Given the description of an element on the screen output the (x, y) to click on. 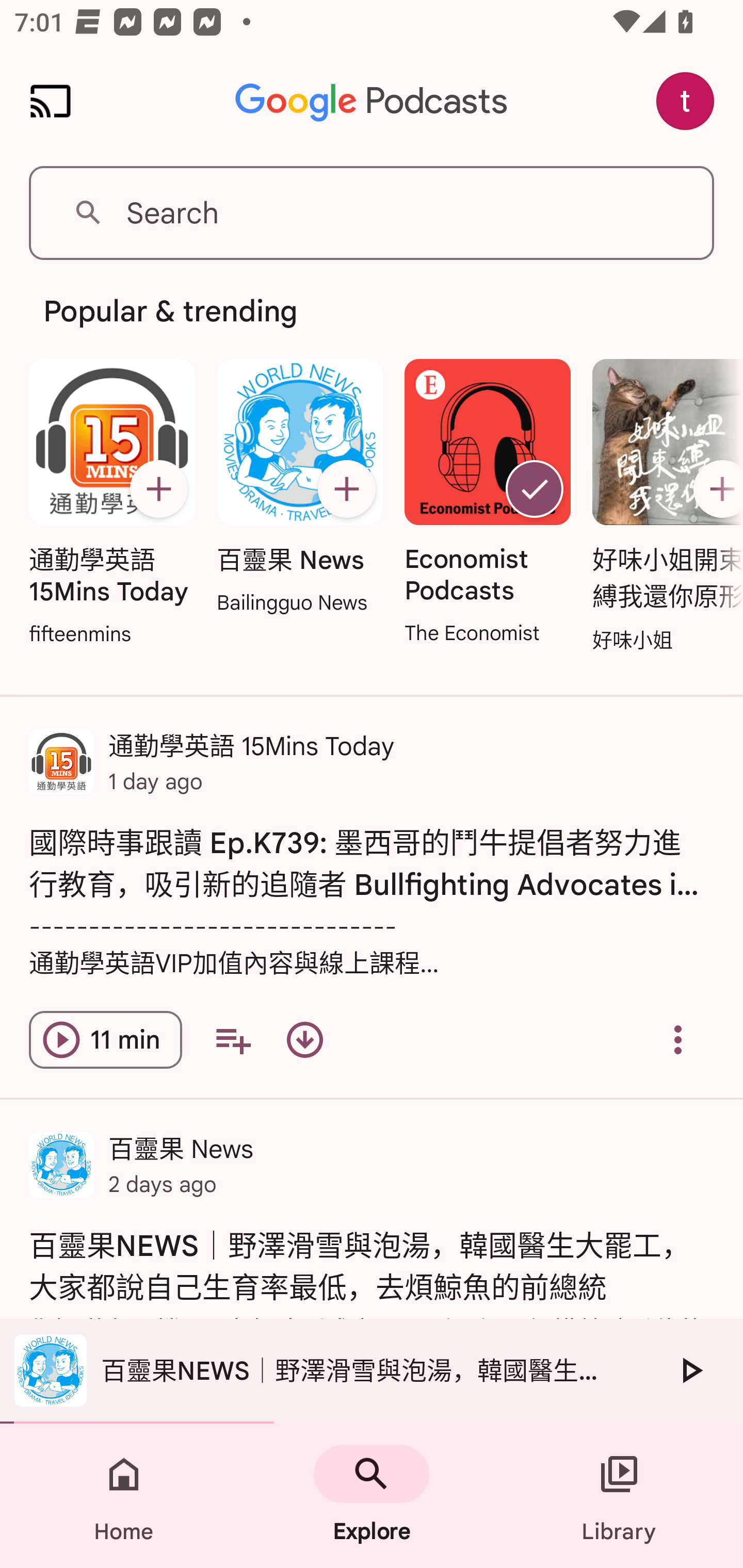
Cast. Disconnected (50, 101)
Search (371, 212)
百靈果 News Subscribe 百靈果 News Bailingguo News (299, 488)
好味小姐開束縛我還你原形 Subscribe 好味小姐開束縛我還你原形 好味小姐 (662, 507)
Subscribe (158, 489)
Subscribe (346, 489)
Unsubscribe (534, 489)
Subscribe (714, 489)
Add to your queue (232, 1040)
Download episode (304, 1040)
Overflow menu (677, 1040)
Play (690, 1370)
Home (123, 1495)
Library (619, 1495)
